Given the description of an element on the screen output the (x, y) to click on. 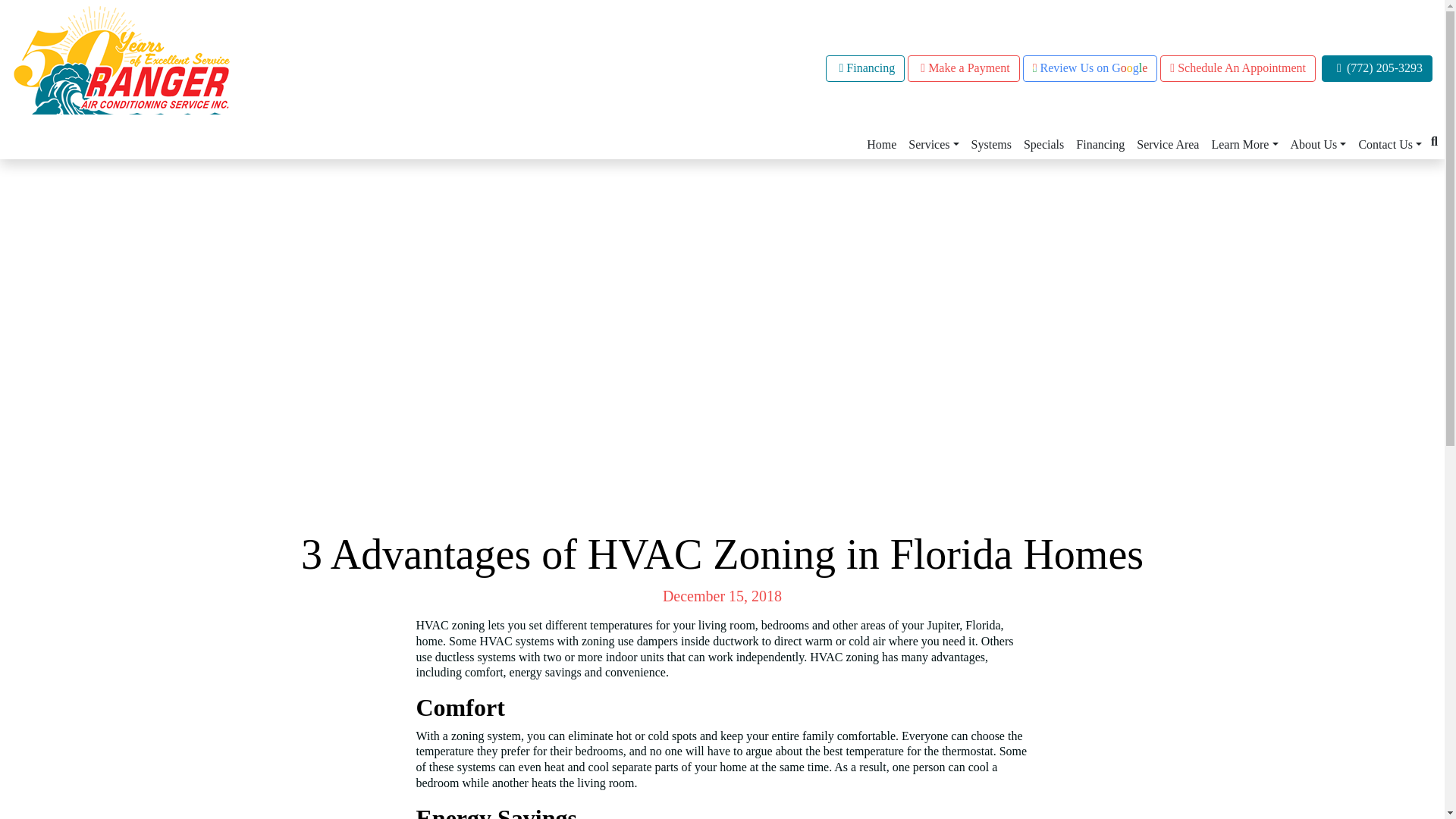
Specials (1043, 144)
Contact Us (1390, 144)
Learn More (1244, 144)
Services (932, 144)
Review Us on Google (1090, 68)
Home (881, 144)
Make a Payment (963, 68)
Systems (991, 144)
Financing (1100, 144)
Service Area (1168, 144)
